Given the description of an element on the screen output the (x, y) to click on. 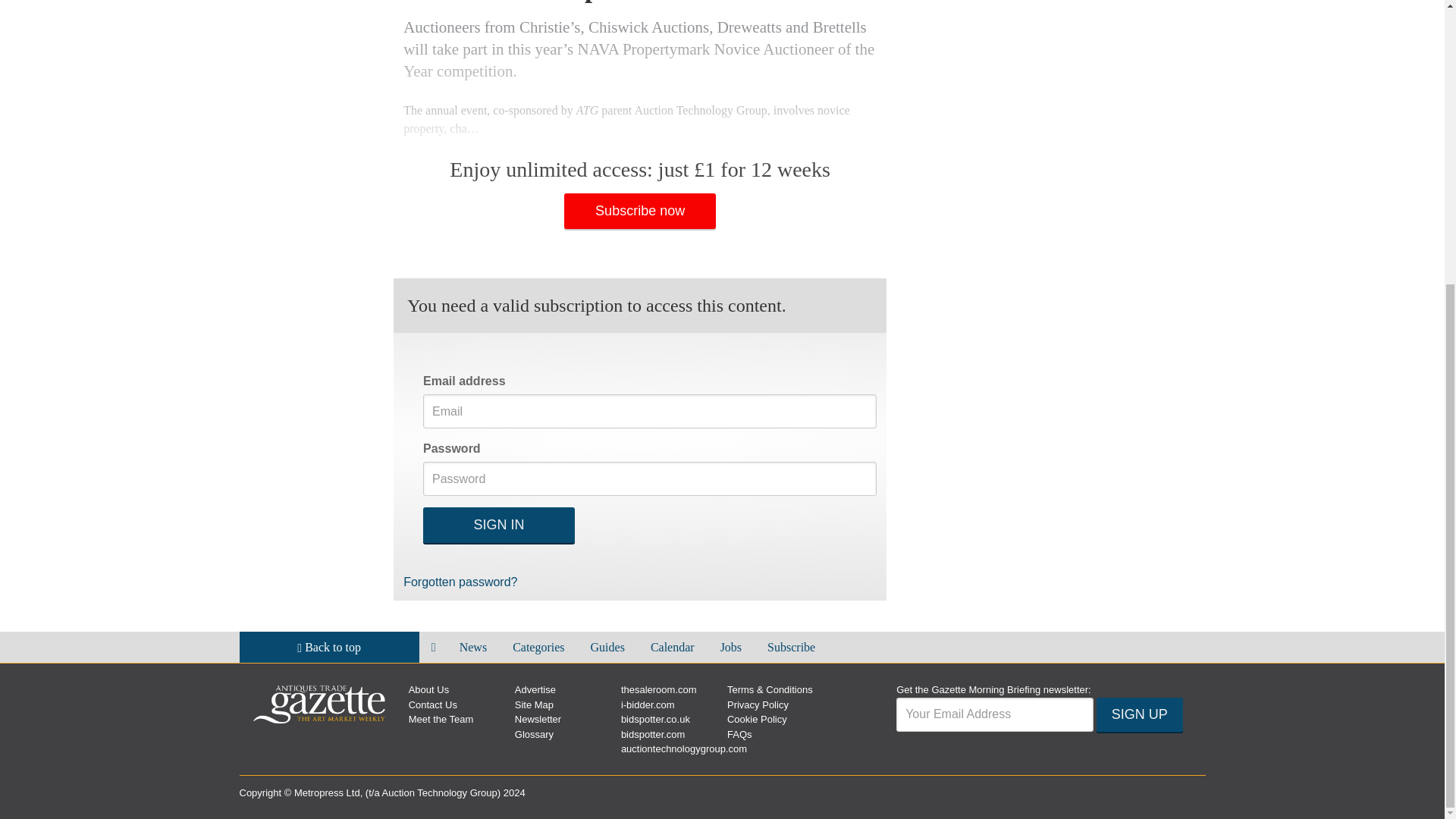
Email address (994, 714)
